Given the description of an element on the screen output the (x, y) to click on. 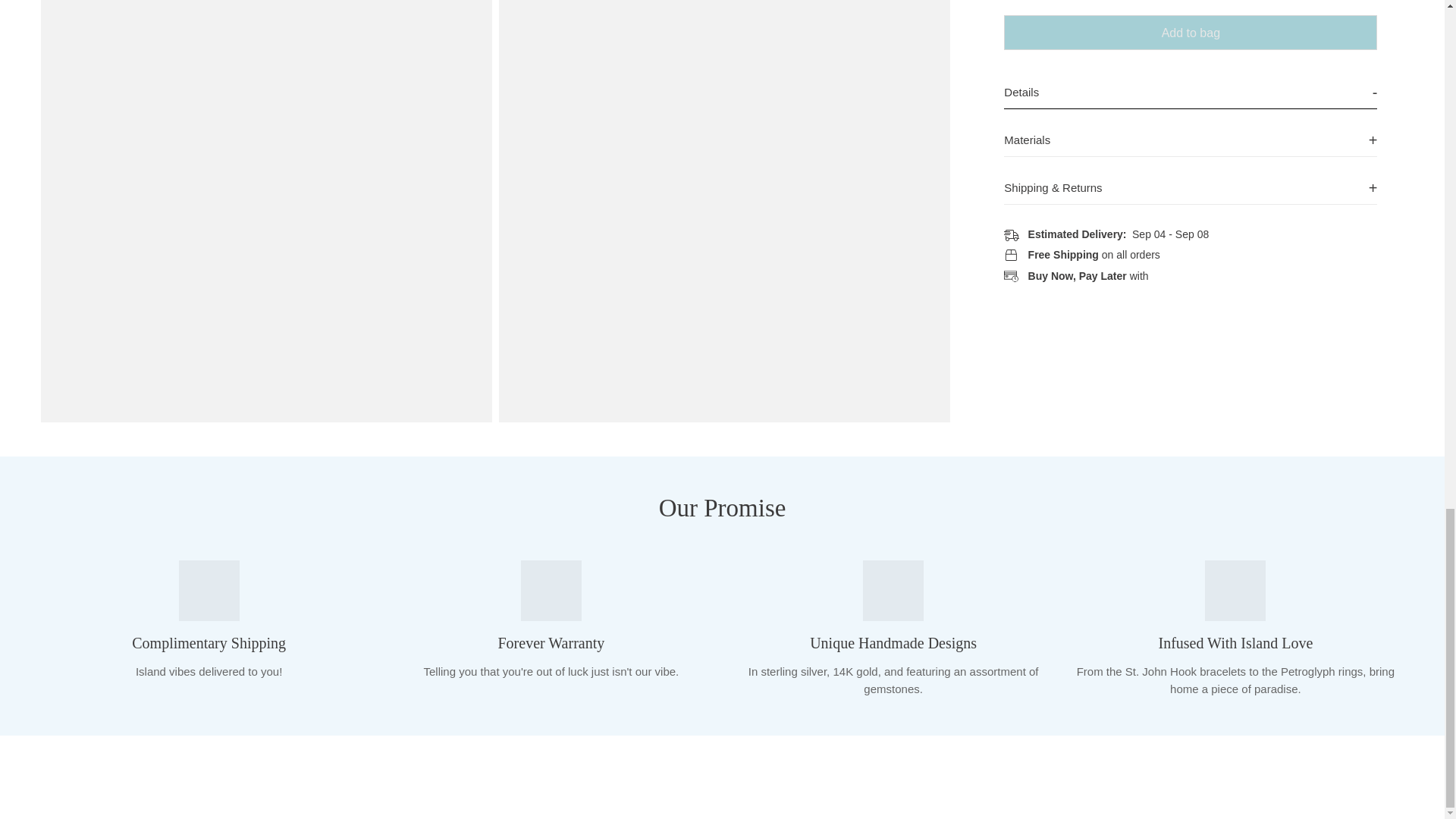
Our Promise (721, 508)
